Given the description of an element on the screen output the (x, y) to click on. 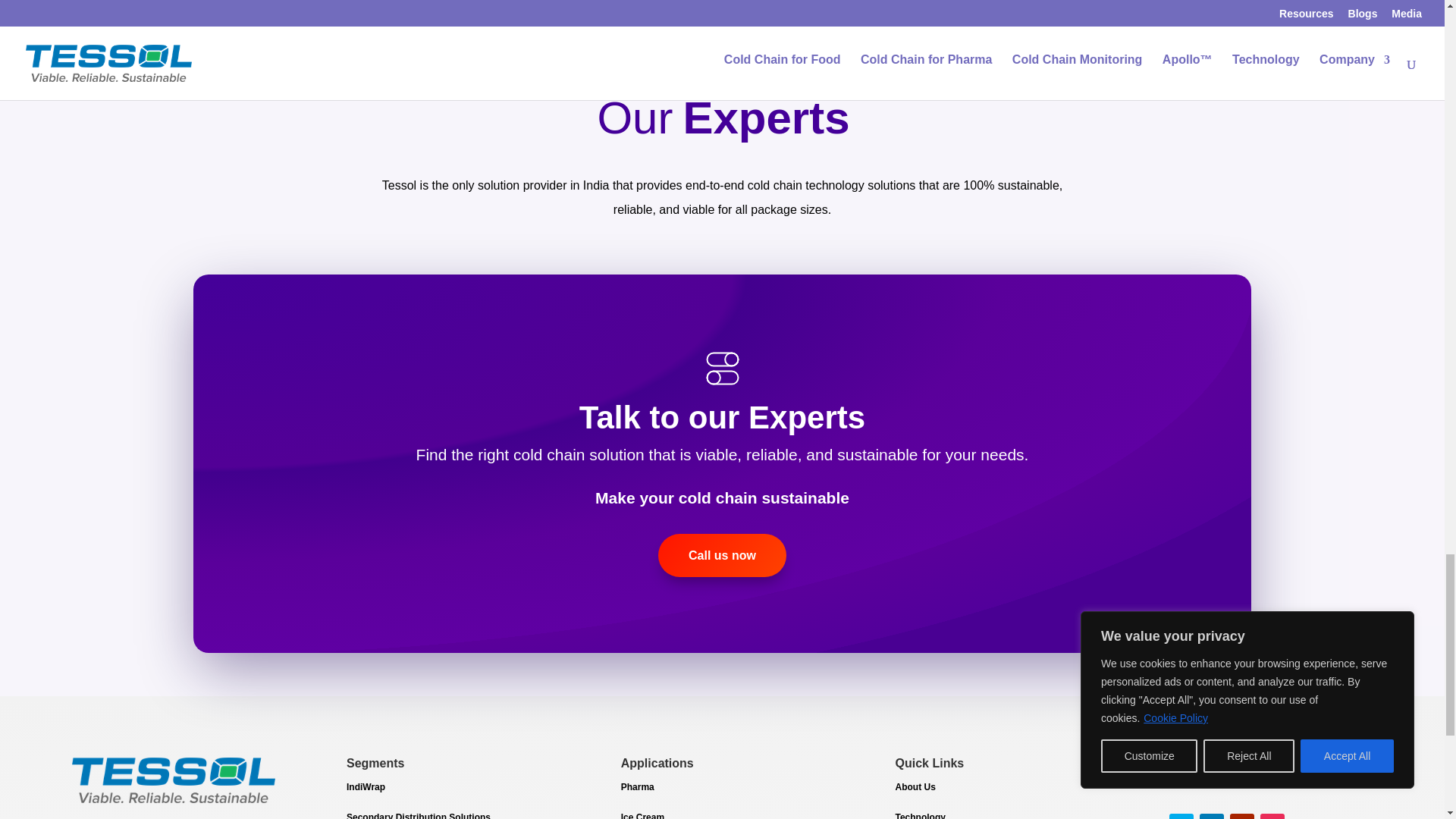
Follow on Instagram (1272, 816)
Follow on Youtube (1241, 816)
Follow on Twitter (1181, 816)
Follow on LinkedIn (1211, 816)
